Given the description of an element on the screen output the (x, y) to click on. 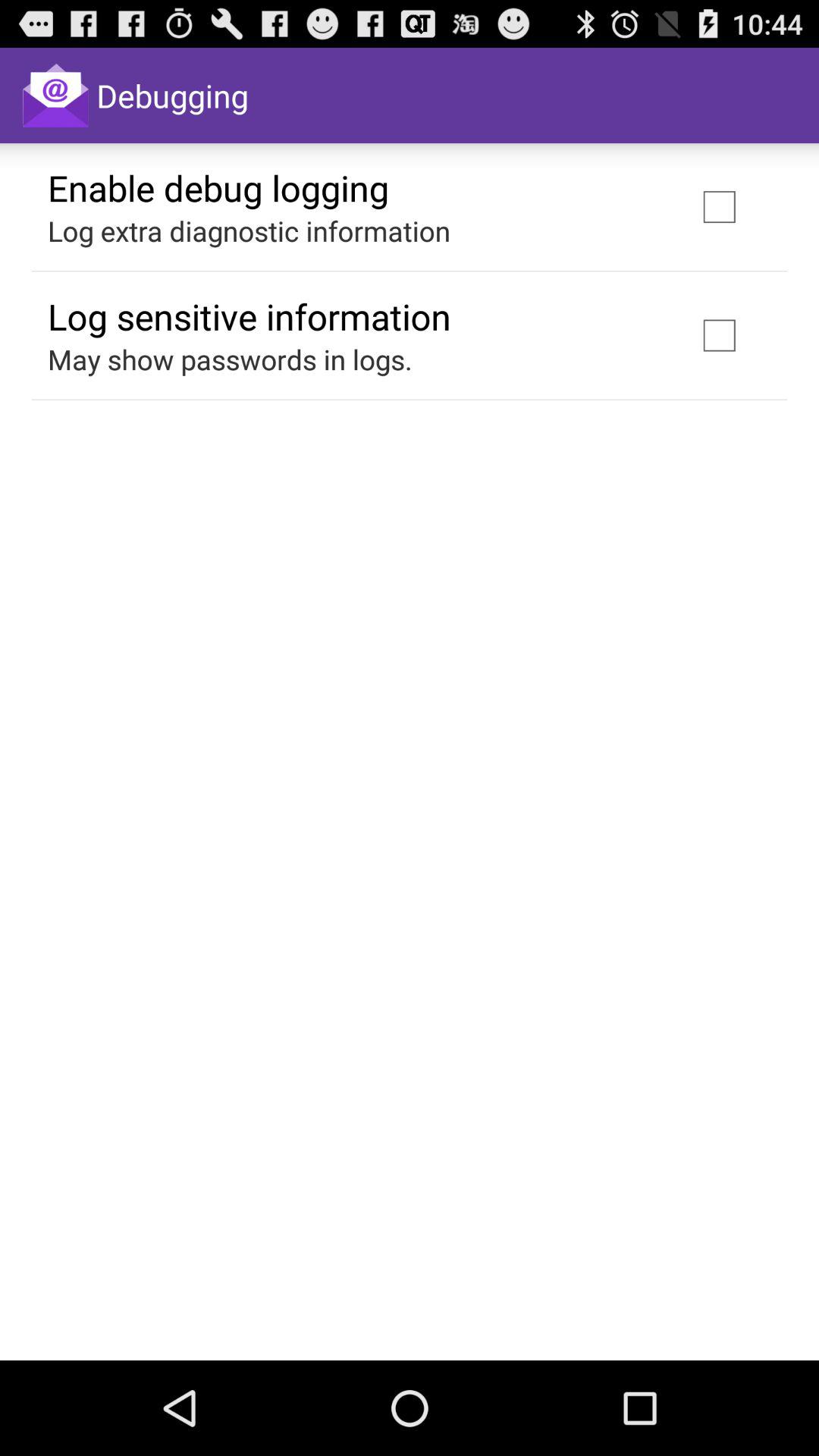
select the app below the log sensitive information item (229, 359)
